Given the description of an element on the screen output the (x, y) to click on. 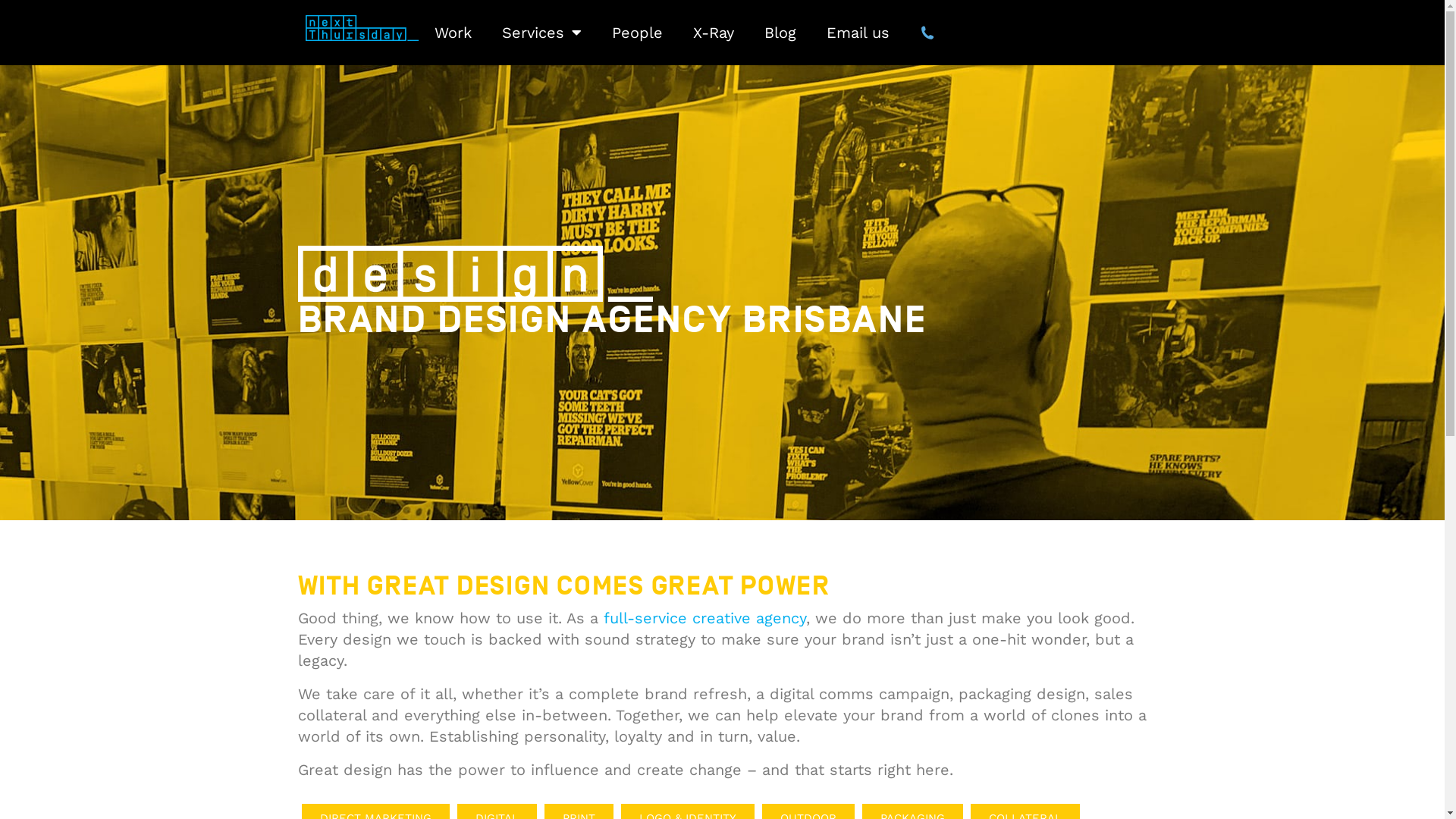
People Element type: text (636, 32)
Services Element type: text (541, 32)
Blog Element type: text (780, 32)
Work Element type: text (452, 32)
nxt_logo_dark@3x Element type: hover (361, 27)
full-service creative agency Element type: text (704, 617)
X-Ray Element type: text (713, 32)
Email us Element type: text (857, 32)
